Given the description of an element on the screen output the (x, y) to click on. 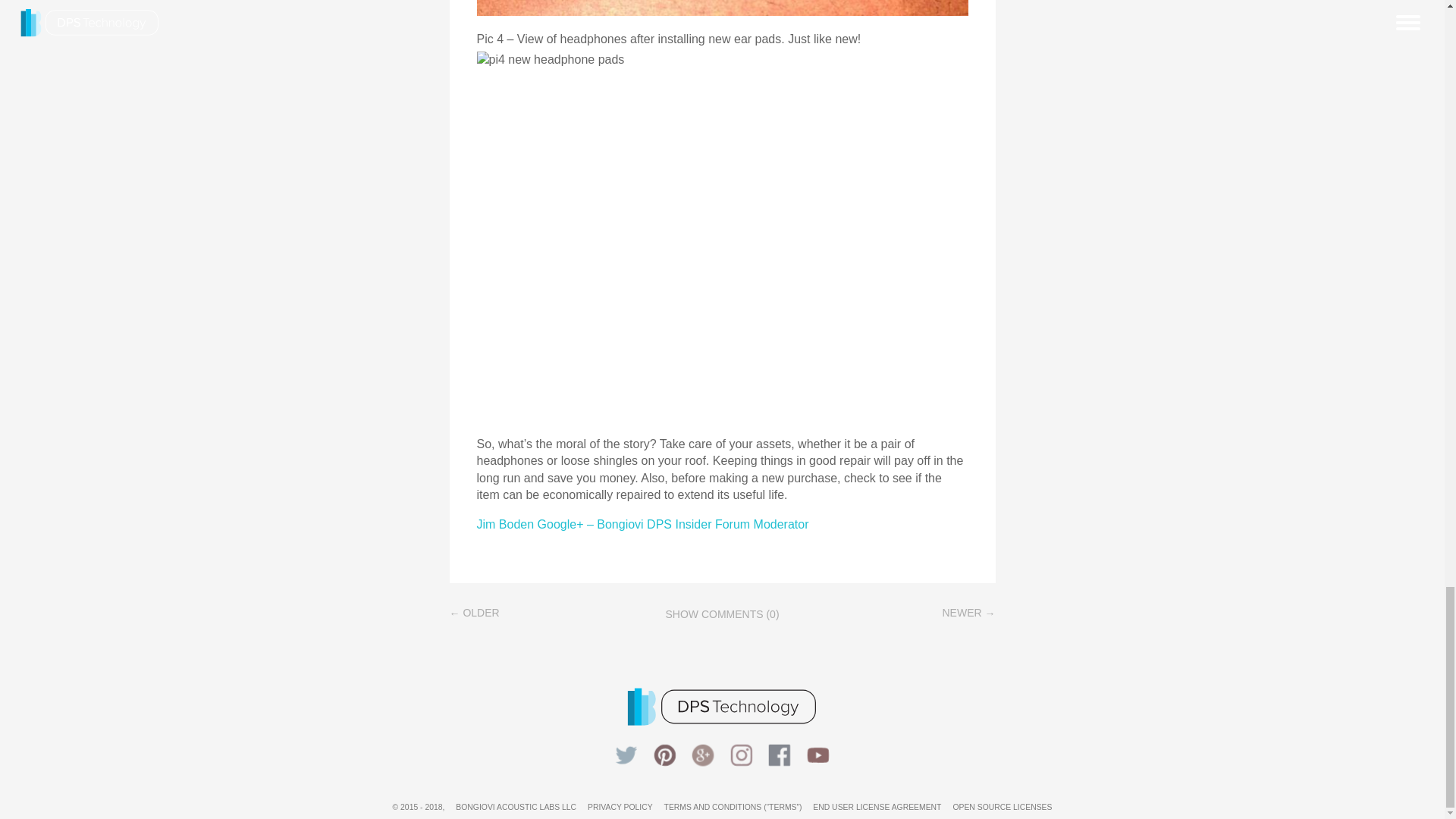
Terms and Conditions (732, 807)
Follow us on Instagram! (740, 757)
BONGIOVI ACOUSTIC LABS LLC (515, 807)
Join us on Facebook! (778, 757)
Privacy Policy (620, 807)
Join us on Pinterest! (664, 757)
Join us on Youtube! (817, 757)
Join us on Twitter! (625, 757)
PRIVACY POLICY (620, 807)
END USER LICENSE AGREEMENT (876, 807)
